Given the description of an element on the screen output the (x, y) to click on. 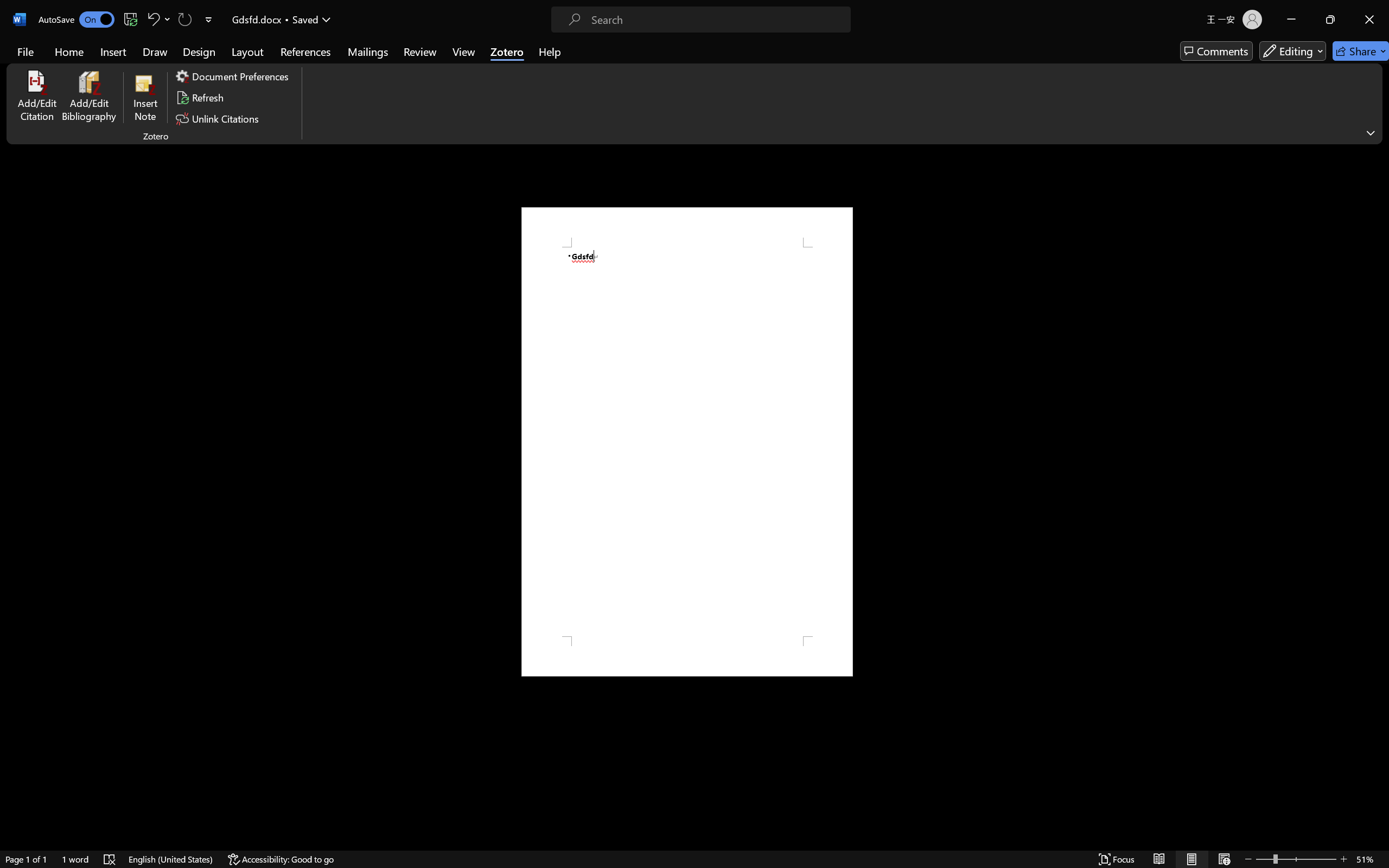
Page 1 content (686, 441)
